Given the description of an element on the screen output the (x, y) to click on. 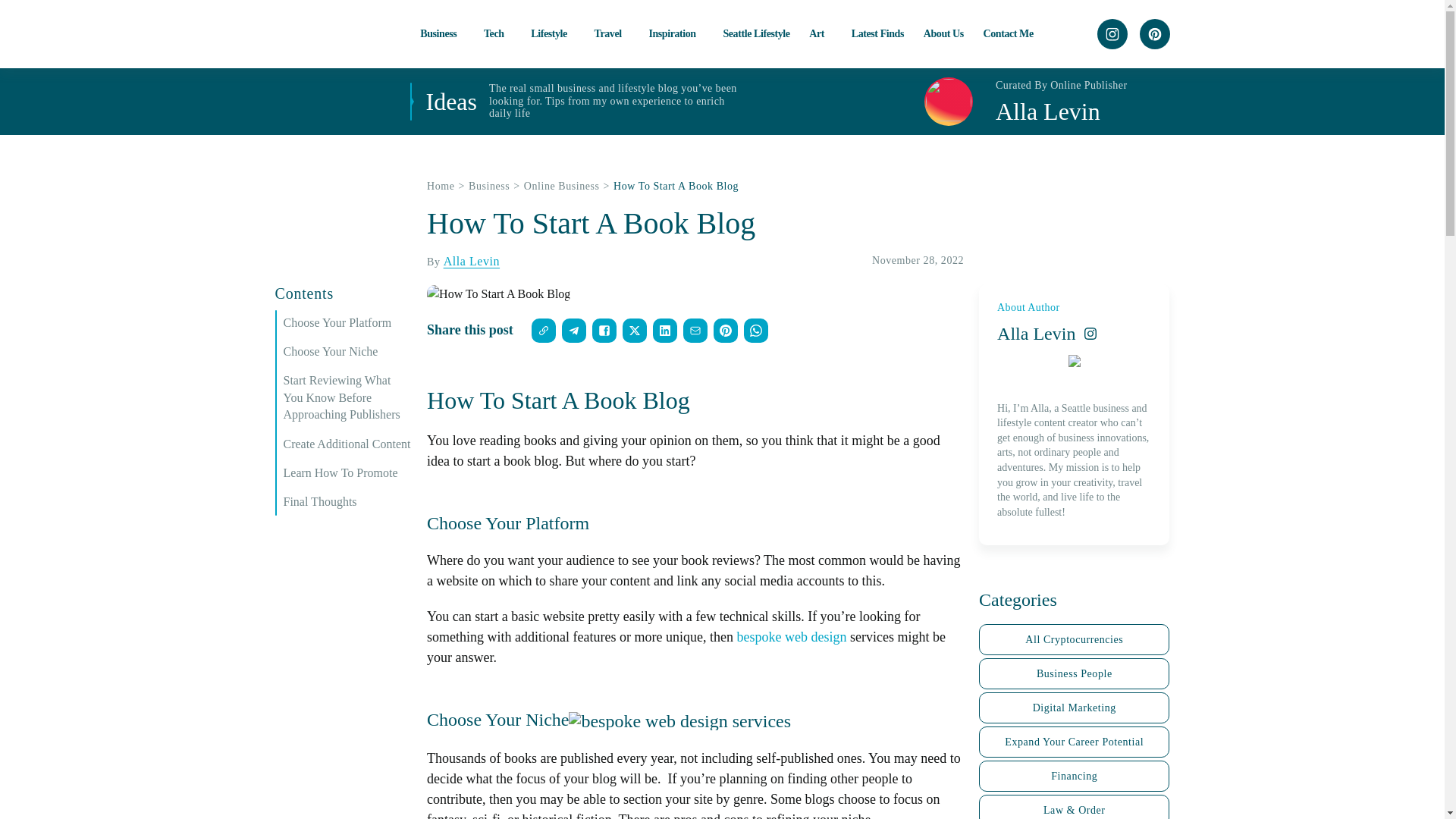
Lifestyle (553, 33)
Tech (497, 33)
Inspiration (675, 33)
Learn How To Promote (347, 473)
Create Additional Content (347, 443)
Choose Your Platform (347, 322)
Choose Your Niche (347, 351)
Travel (611, 33)
Final Thoughts (347, 501)
